Given the description of an element on the screen output the (x, y) to click on. 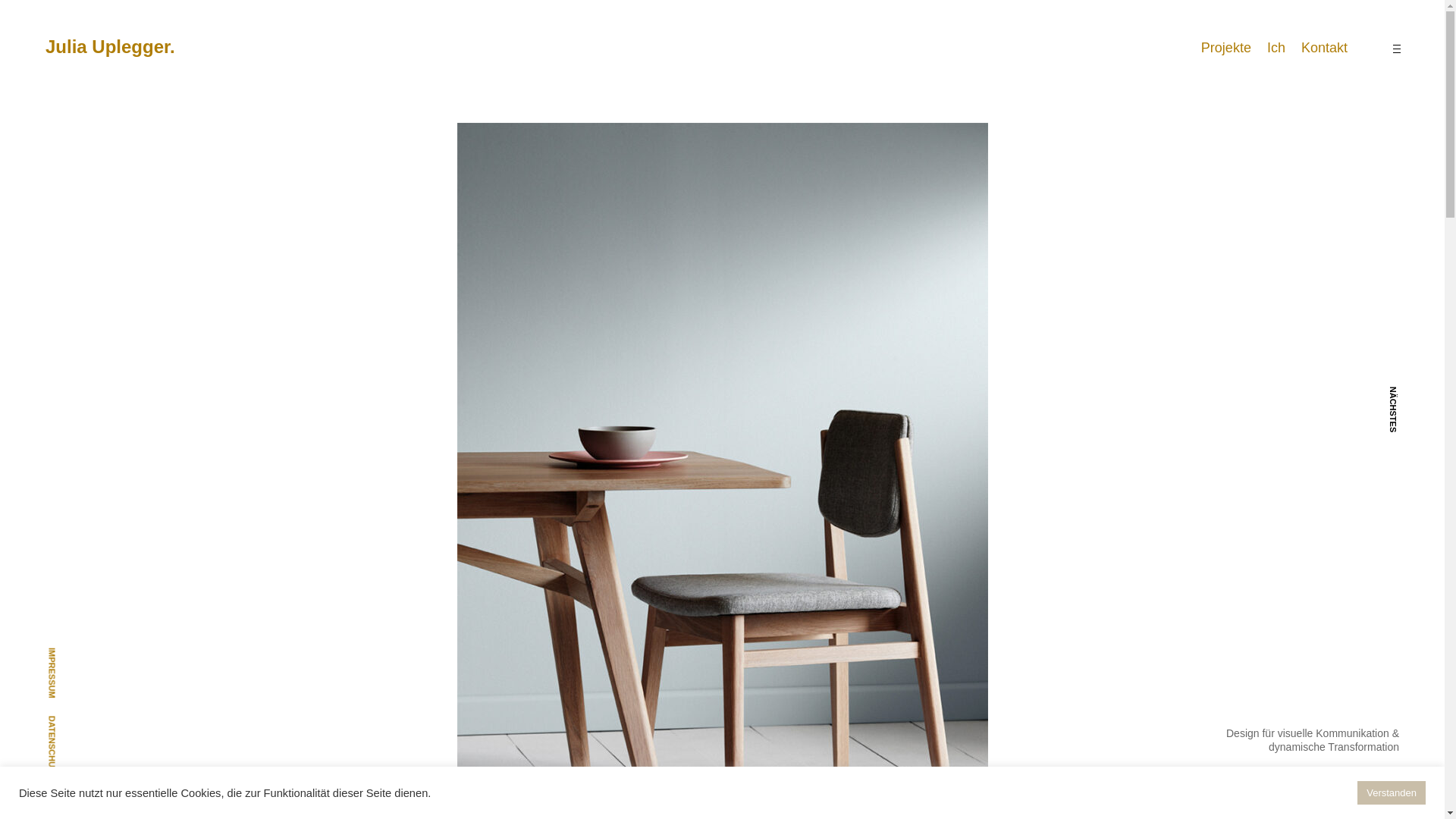
Einstellungen (1315, 792)
Kontakt (1324, 47)
Projekte (1225, 47)
Verstanden (1390, 792)
IMPRESSUM (72, 651)
open sidebar (1396, 47)
Julia Uplegger. (109, 46)
DATENSCHUTZ (78, 719)
